Given the description of an element on the screen output the (x, y) to click on. 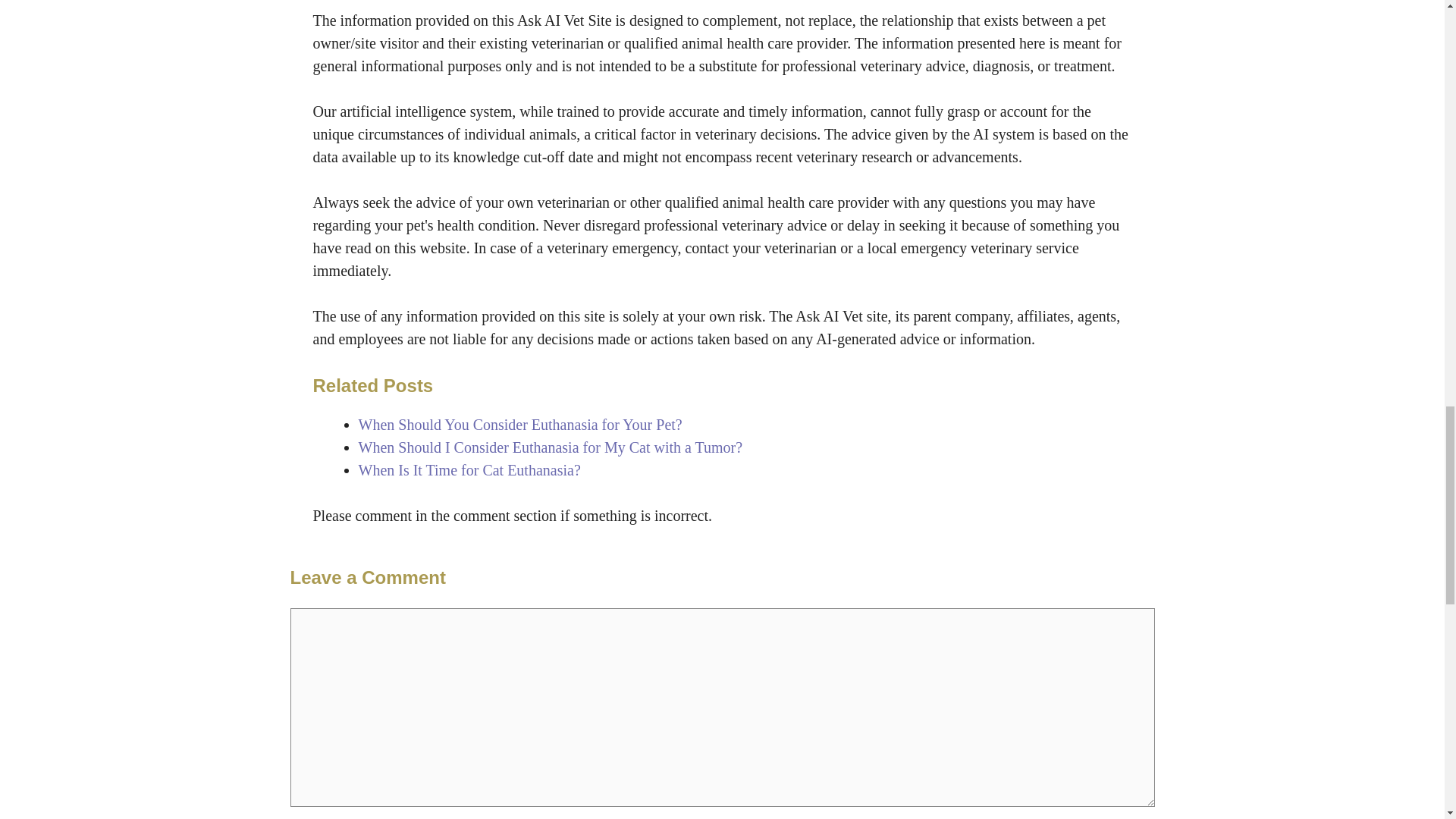
When Should I Consider Euthanasia for My Cat with a Tumor? (550, 446)
When Should You Consider Euthanasia for Your Pet? (519, 424)
When Is It Time for Cat Euthanasia? (468, 469)
